Given the description of an element on the screen output the (x, y) to click on. 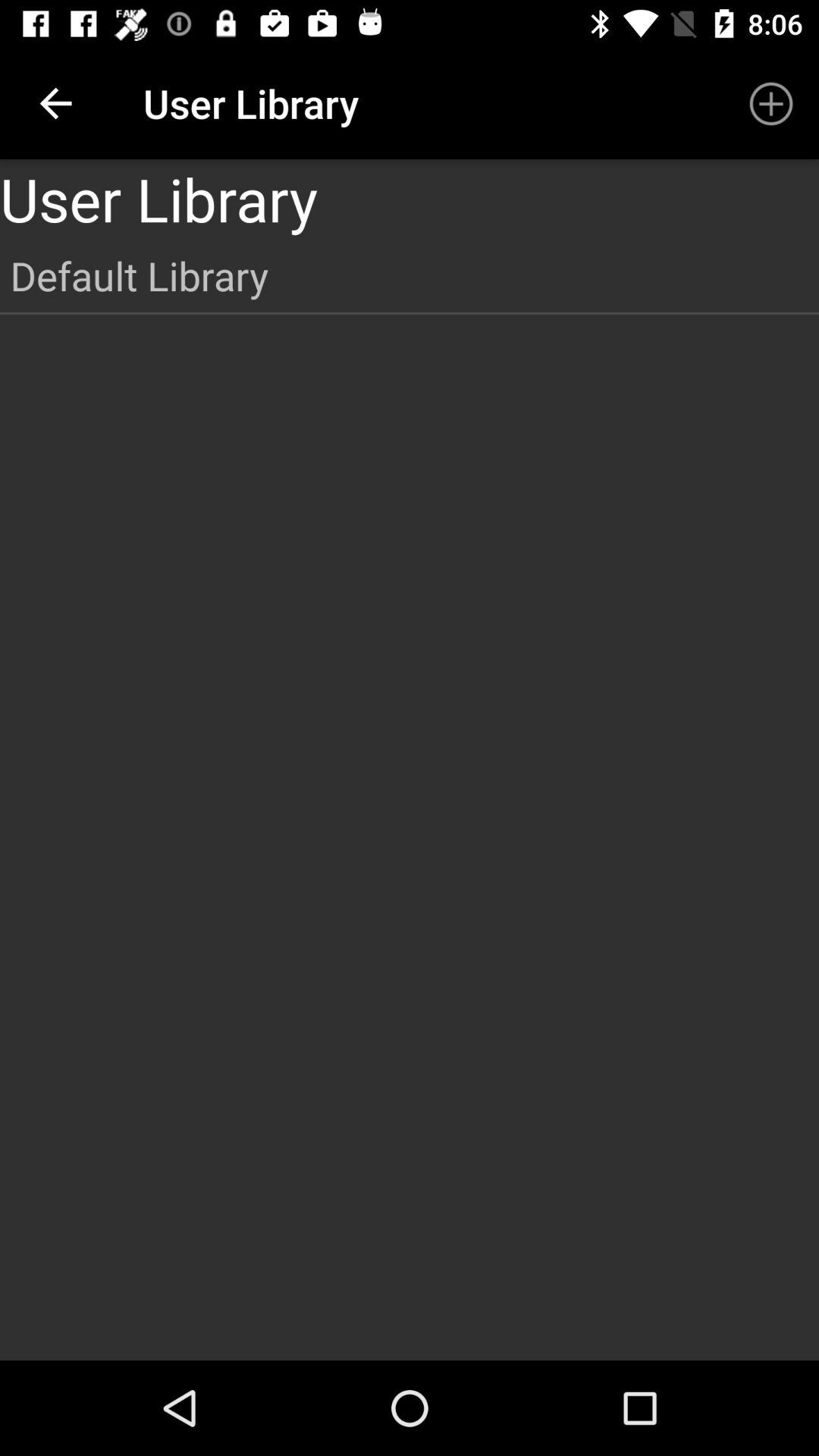
tap item above user library item (55, 103)
